Given the description of an element on the screen output the (x, y) to click on. 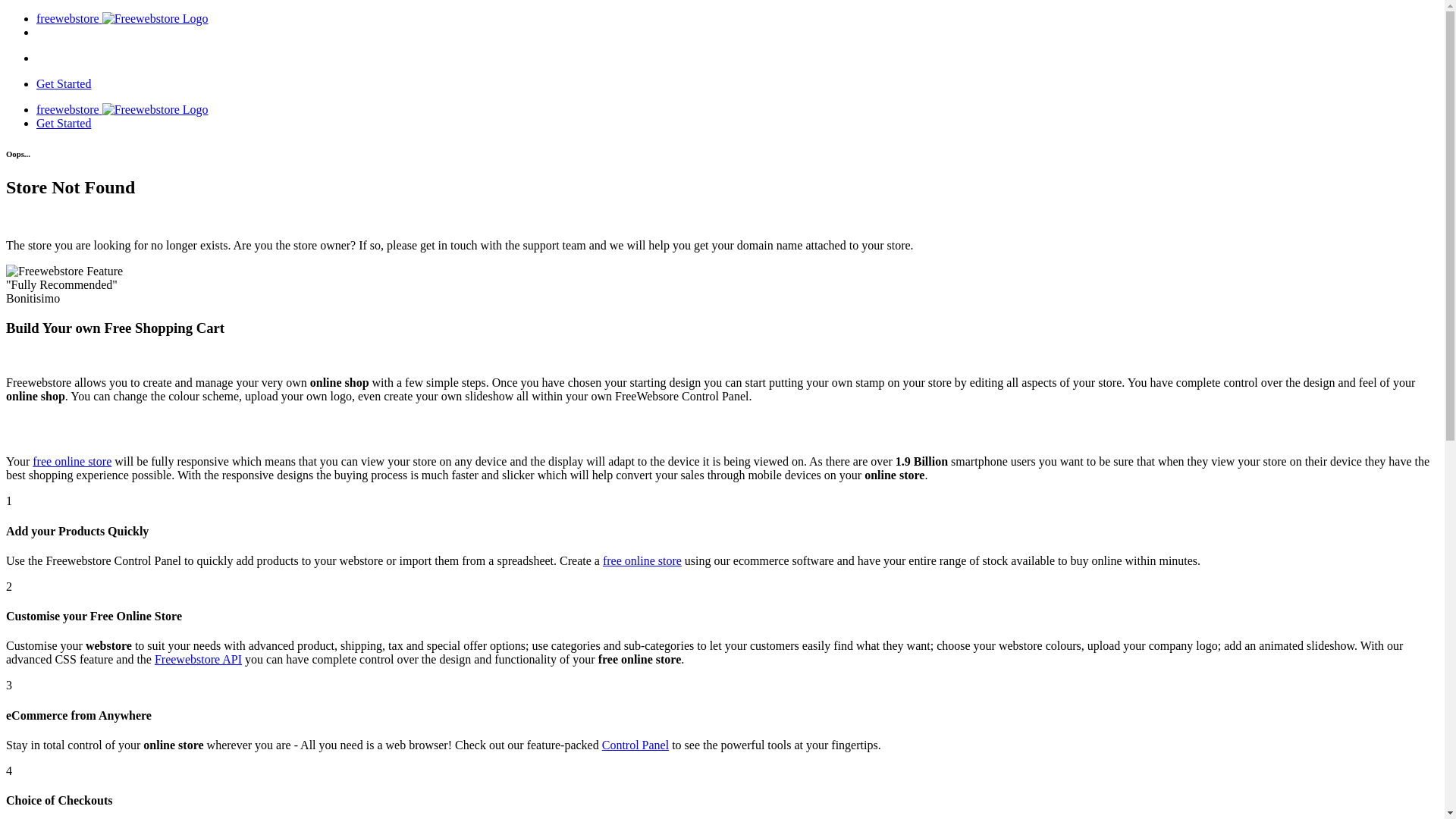
Freewebstore API Element type: text (197, 658)
freewebstore Element type: text (122, 18)
Control Panel Element type: text (635, 744)
free online store Element type: text (71, 461)
freewebstore Element type: text (122, 109)
free online store Element type: text (641, 560)
Get Started Element type: text (63, 83)
Get Started Element type: text (63, 122)
